Given the description of an element on the screen output the (x, y) to click on. 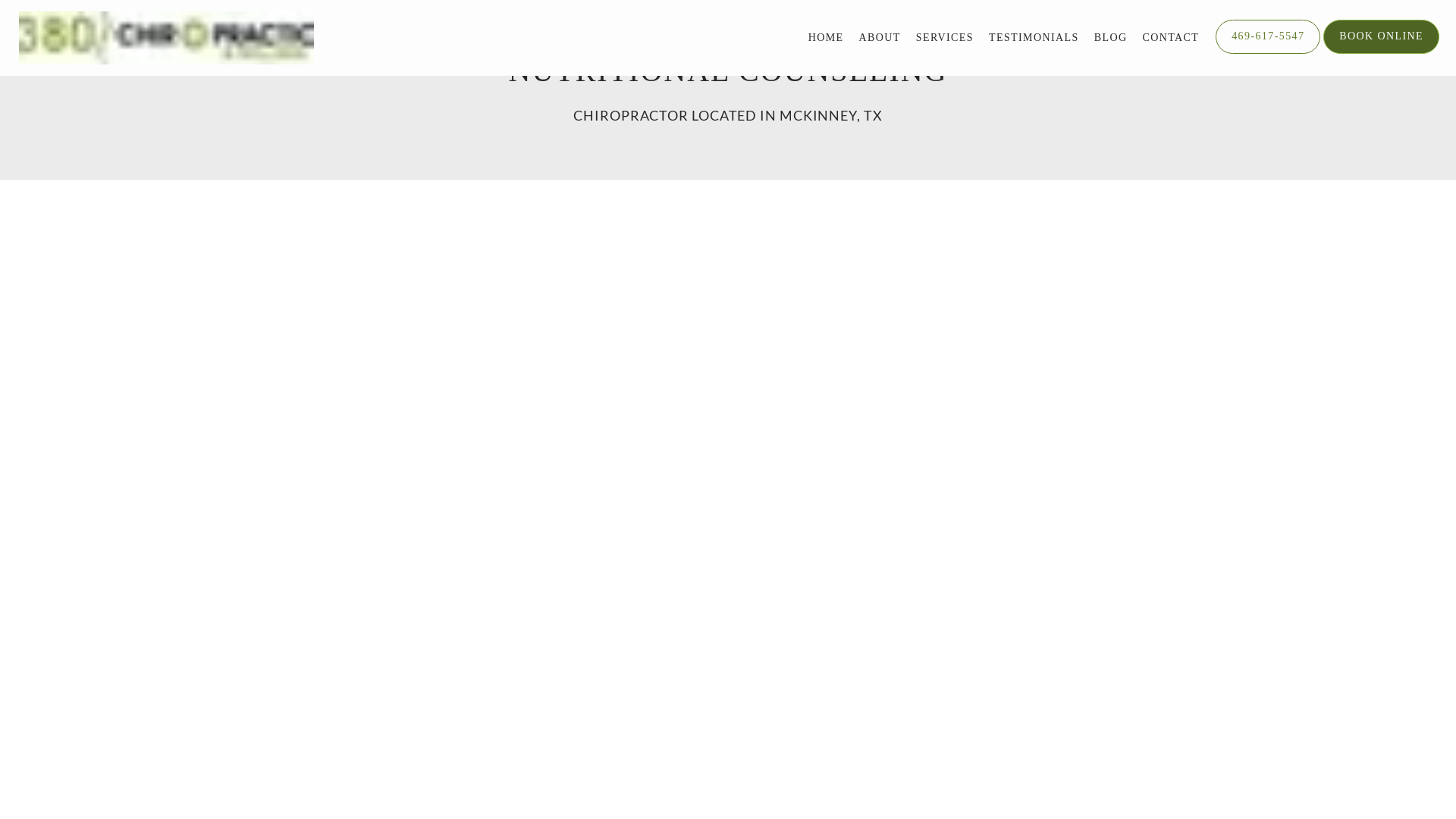
BLOG Element type: text (1110, 37)
469-617-5547 Element type: text (1267, 52)
SERVICES Element type: text (944, 37)
HOME Element type: text (826, 37)
CONTACT Element type: text (1170, 37)
BOOK ONLINE Element type: text (1380, 52)
TESTIMONIALS Element type: text (1033, 37)
ABOUT Element type: text (879, 37)
